Given the description of an element on the screen output the (x, y) to click on. 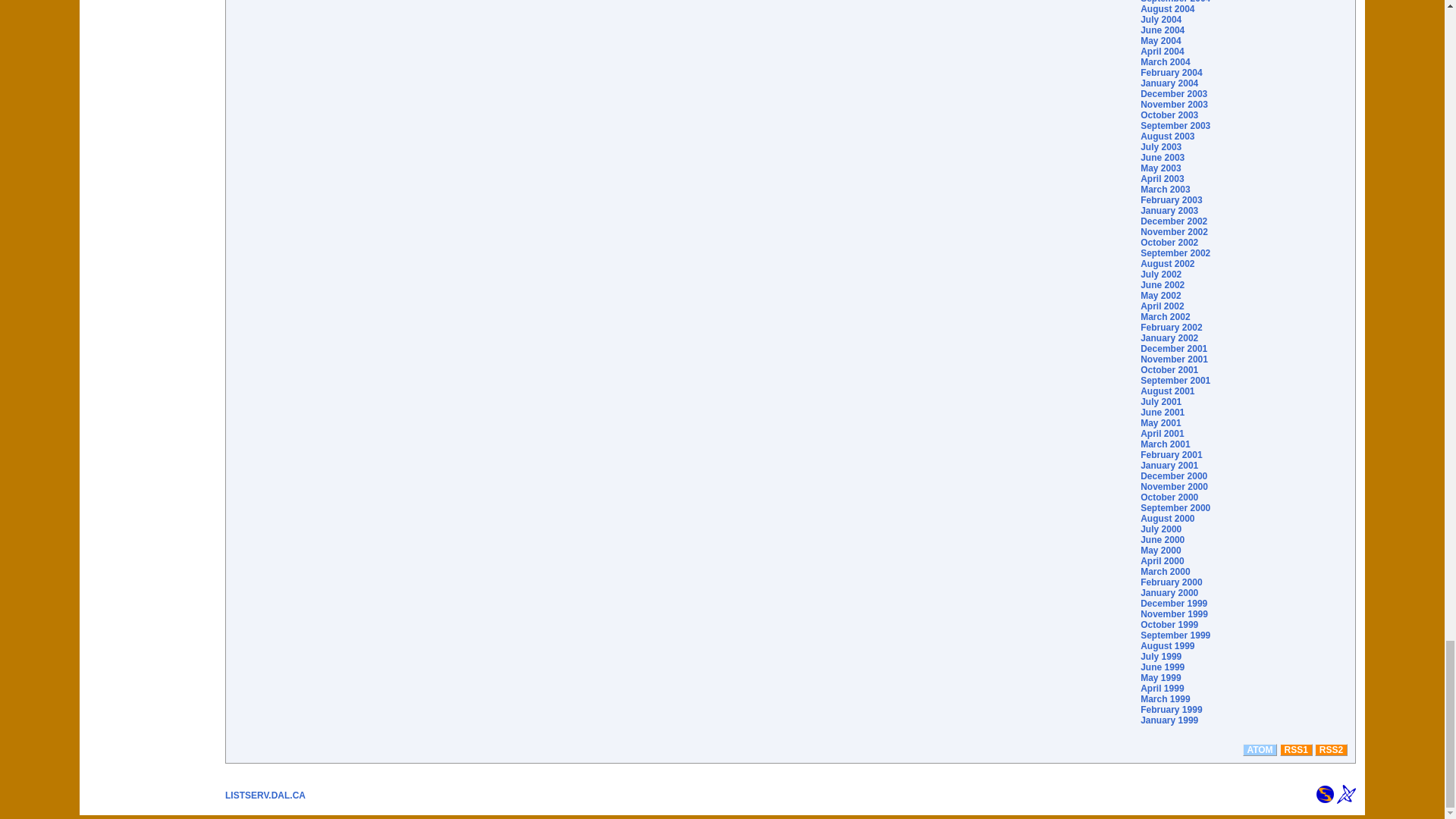
CataList Email List Search (1325, 793)
Powered by the LISTSERV Email List Manager (1345, 793)
